Given the description of an element on the screen output the (x, y) to click on. 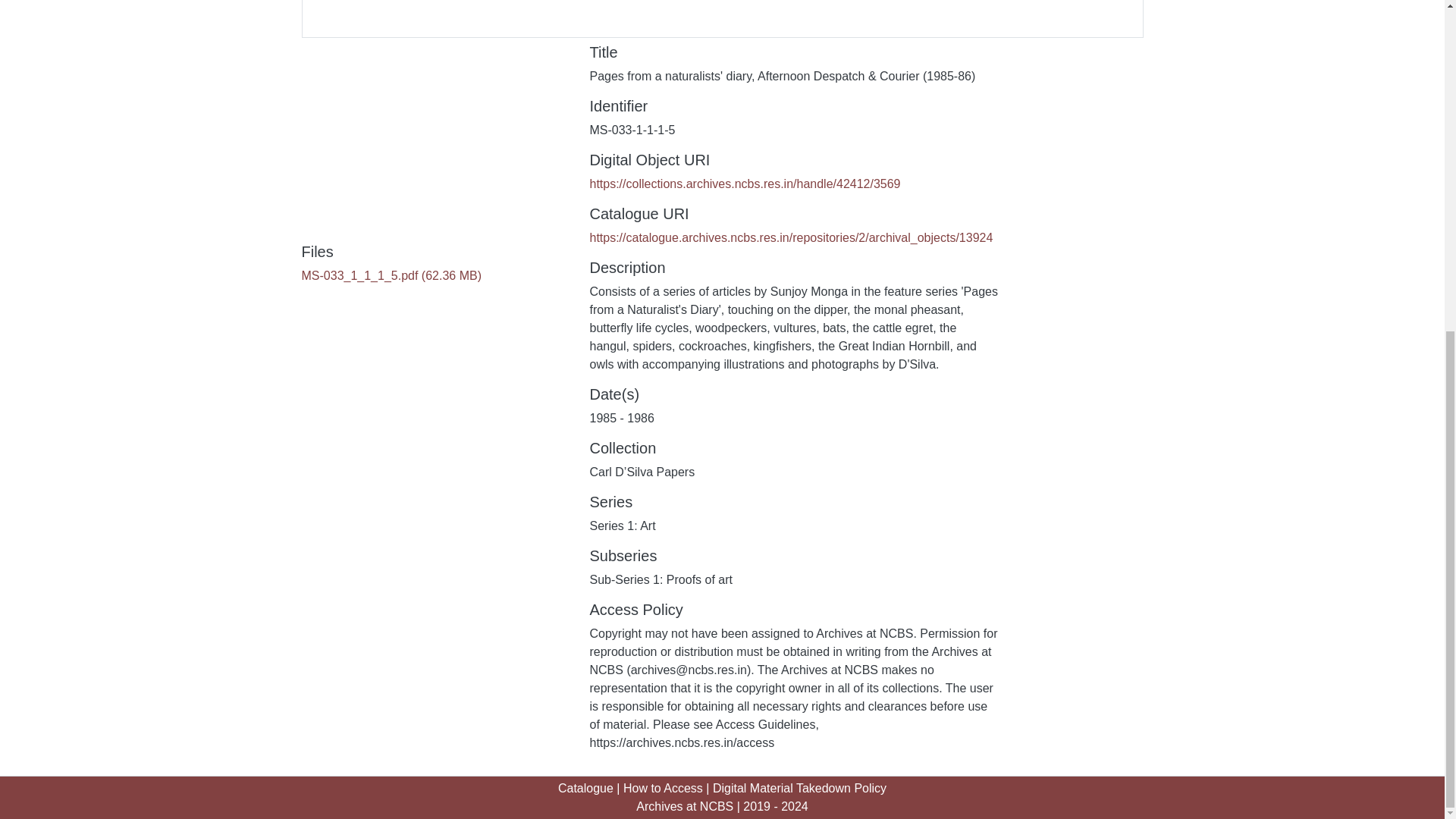
Mirador Viewer (721, 18)
How to Access (663, 788)
Digital Material Takedown Policy (799, 788)
Archives at NCBS (684, 806)
Catalogue (584, 788)
